Given the description of an element on the screen output the (x, y) to click on. 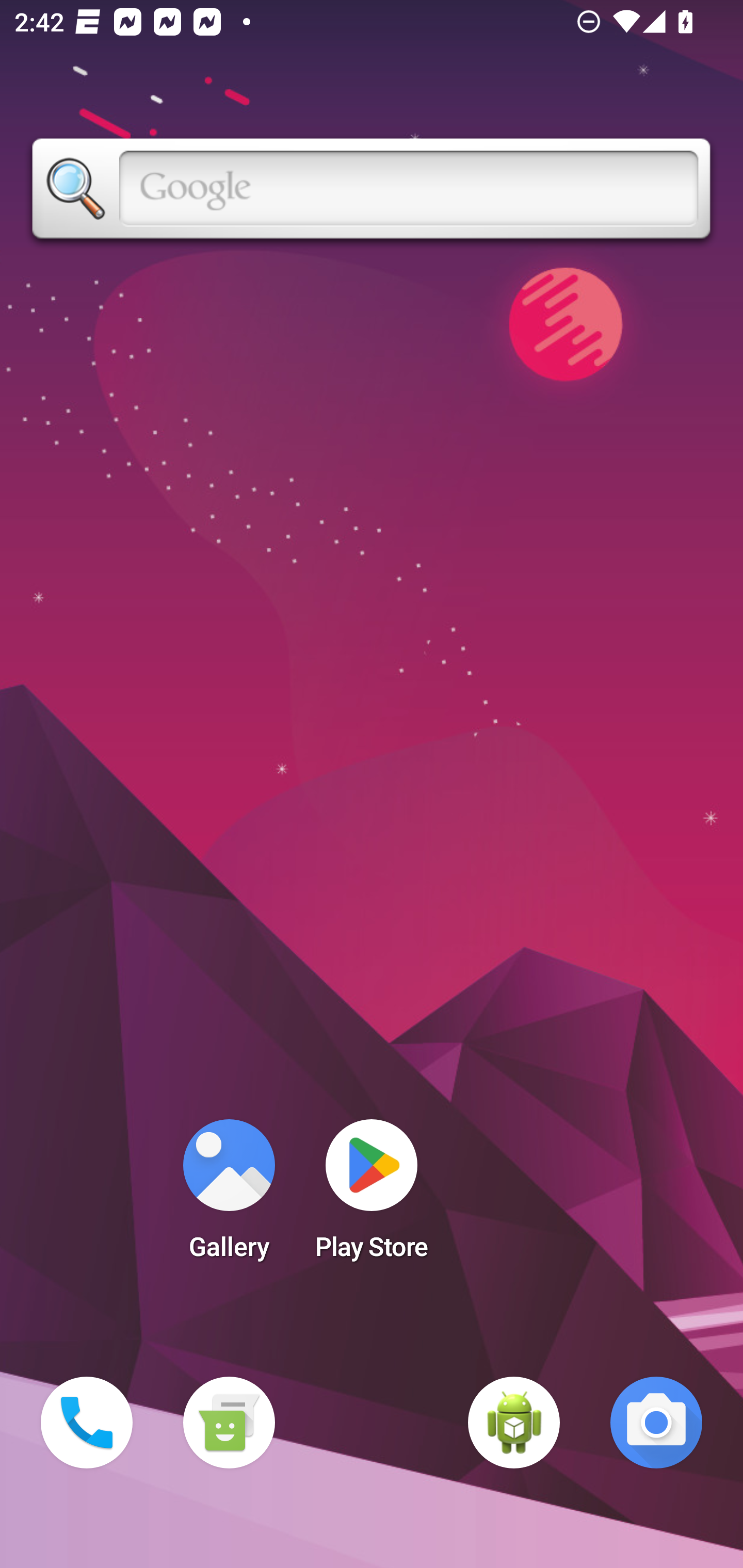
Gallery (228, 1195)
Play Store (371, 1195)
Phone (86, 1422)
Messaging (228, 1422)
WebView Browser Tester (513, 1422)
Camera (656, 1422)
